Given the description of an element on the screen output the (x, y) to click on. 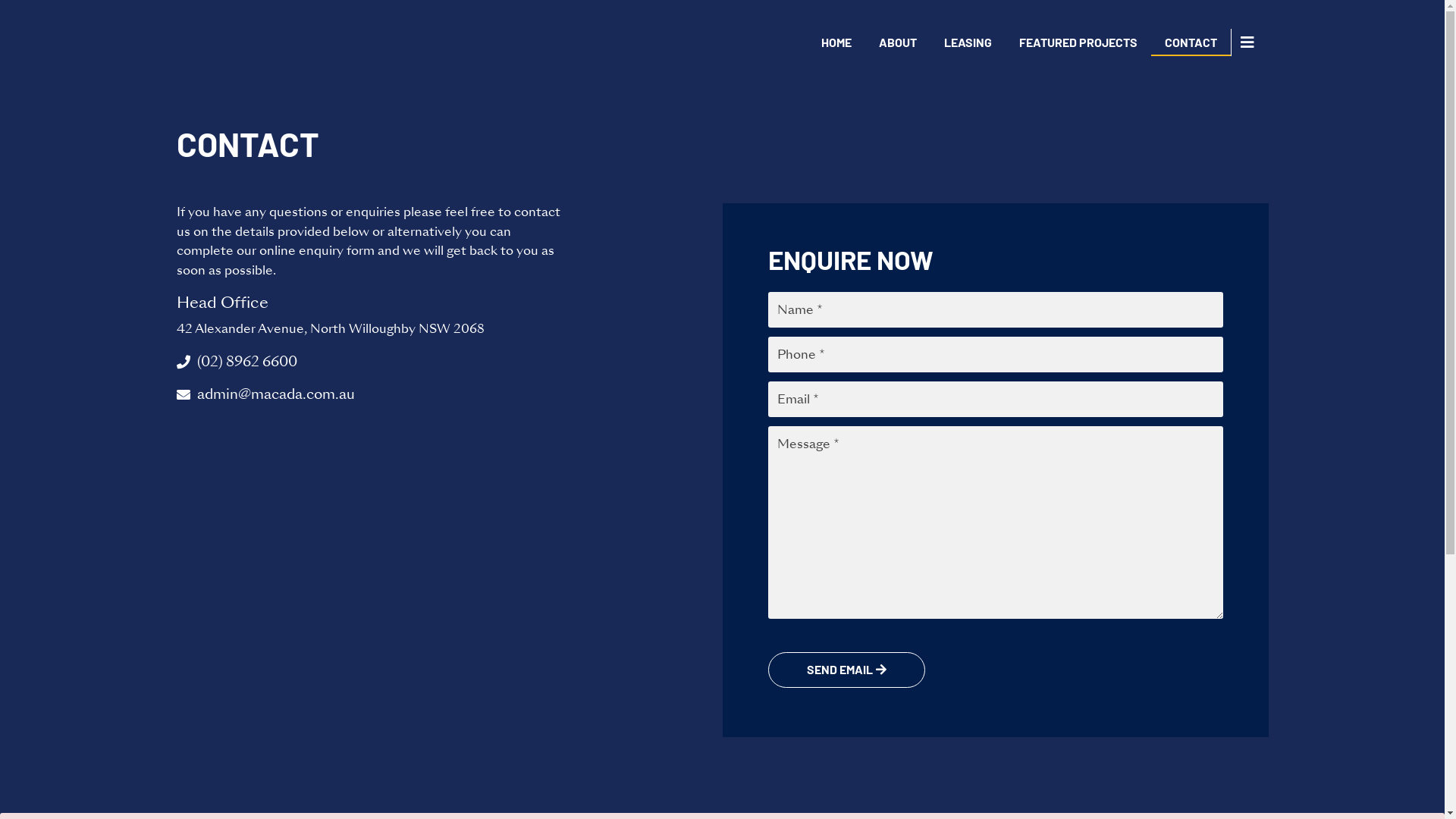
FEATURED PROJECTS Element type: text (1078, 42)
admin@macada.com.au Element type: text (448, 394)
LEASING Element type: text (967, 42)
HOME Element type: text (836, 42)
CONTACT Element type: text (1190, 42)
SEND EMAIL Element type: text (845, 669)
ABOUT Element type: text (897, 42)
(02) 8962 6600 Element type: text (448, 362)
